Given the description of an element on the screen output the (x, y) to click on. 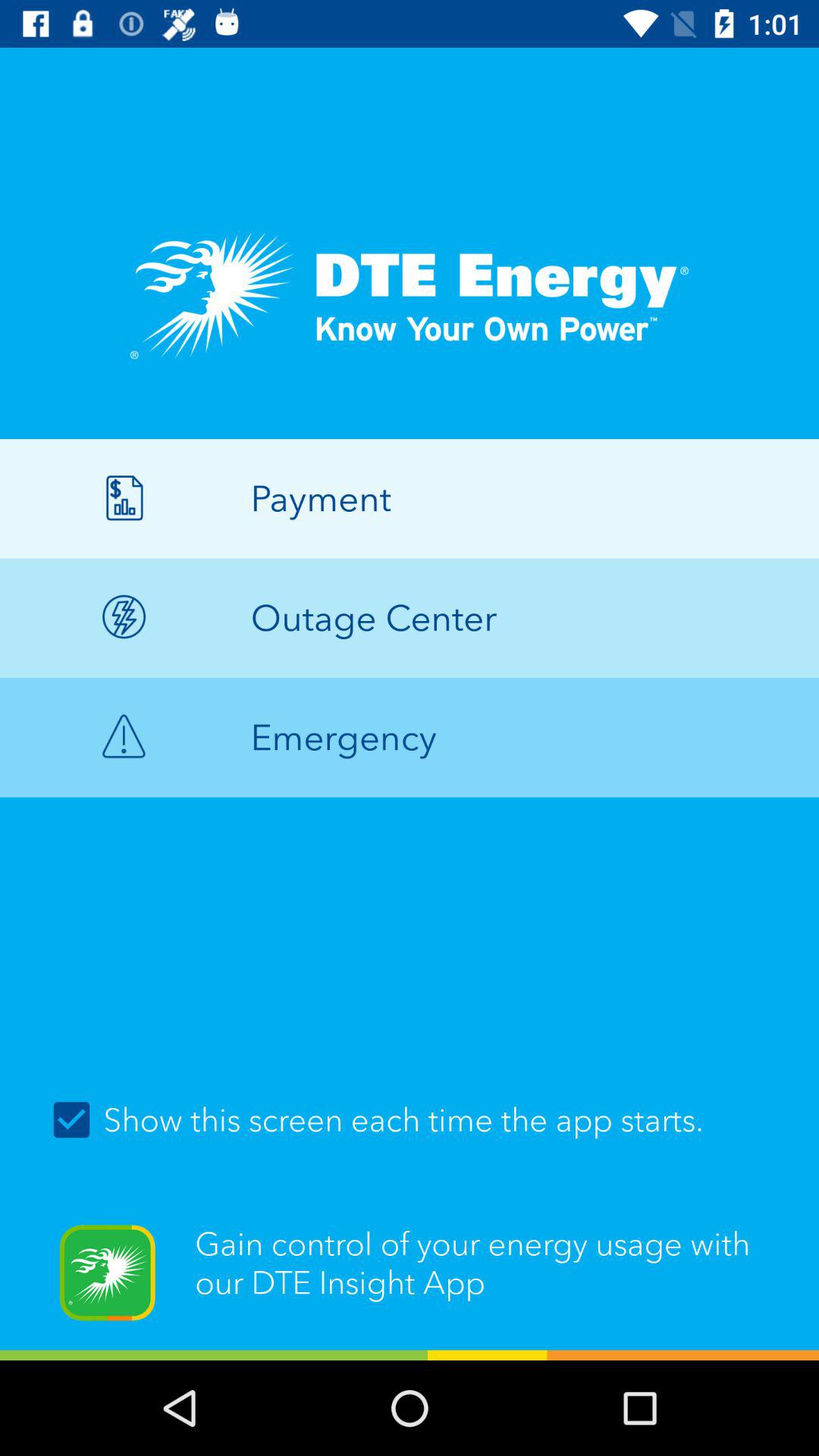
flip to the emergency (409, 737)
